Given the description of an element on the screen output the (x, y) to click on. 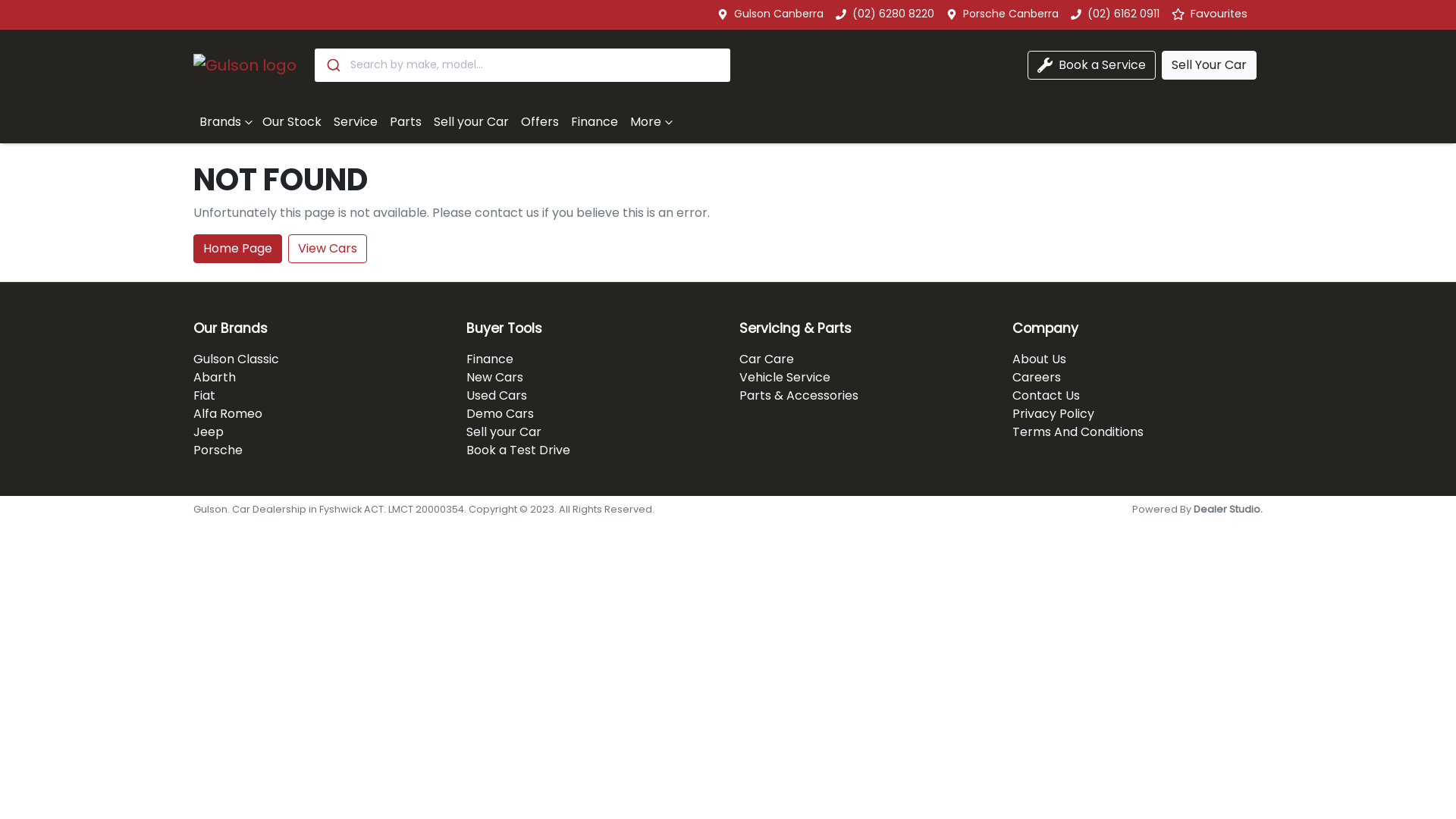
New Cars Element type: text (494, 376)
Submit Element type: hover (332, 64)
Finance Element type: text (594, 121)
Dealer Studio. Element type: text (1227, 508)
Car Care Element type: text (766, 358)
Terms And Conditions Element type: text (1077, 431)
(02) 6162 0911 Element type: text (1123, 13)
Book a Test Drive Element type: text (518, 449)
Abarth Element type: text (214, 376)
About Us Element type: text (1039, 358)
Service Element type: text (355, 121)
Privacy Policy Element type: text (1053, 413)
Vehicle Service Element type: text (784, 376)
Parts & Accessories Element type: text (798, 395)
Finance Element type: text (489, 358)
(02) 6280 8220 Element type: text (893, 13)
Home Page Element type: text (237, 248)
View Cars Element type: text (327, 248)
Porsche Canberra Element type: text (1010, 13)
Offers Element type: text (539, 121)
Favourites Element type: text (1213, 14)
Contact Us Element type: text (1045, 395)
Sell Your Car Element type: text (1208, 64)
Demo Cars Element type: text (499, 413)
Book a Service Element type: text (1091, 64)
Careers Element type: text (1036, 376)
More Element type: text (650, 121)
Gulson Classic Element type: text (236, 358)
Porsche Element type: text (217, 449)
Gulson Canberra Element type: text (778, 13)
Our Stock Element type: text (291, 121)
Used Cars Element type: text (496, 395)
Fiat Element type: text (204, 395)
Sell your Car Element type: text (503, 431)
Jeep Element type: text (208, 431)
Brands Element type: text (224, 121)
Sell your Car Element type: text (470, 121)
Alfa Romeo Element type: text (227, 413)
Parts Element type: text (405, 121)
